Given the description of an element on the screen output the (x, y) to click on. 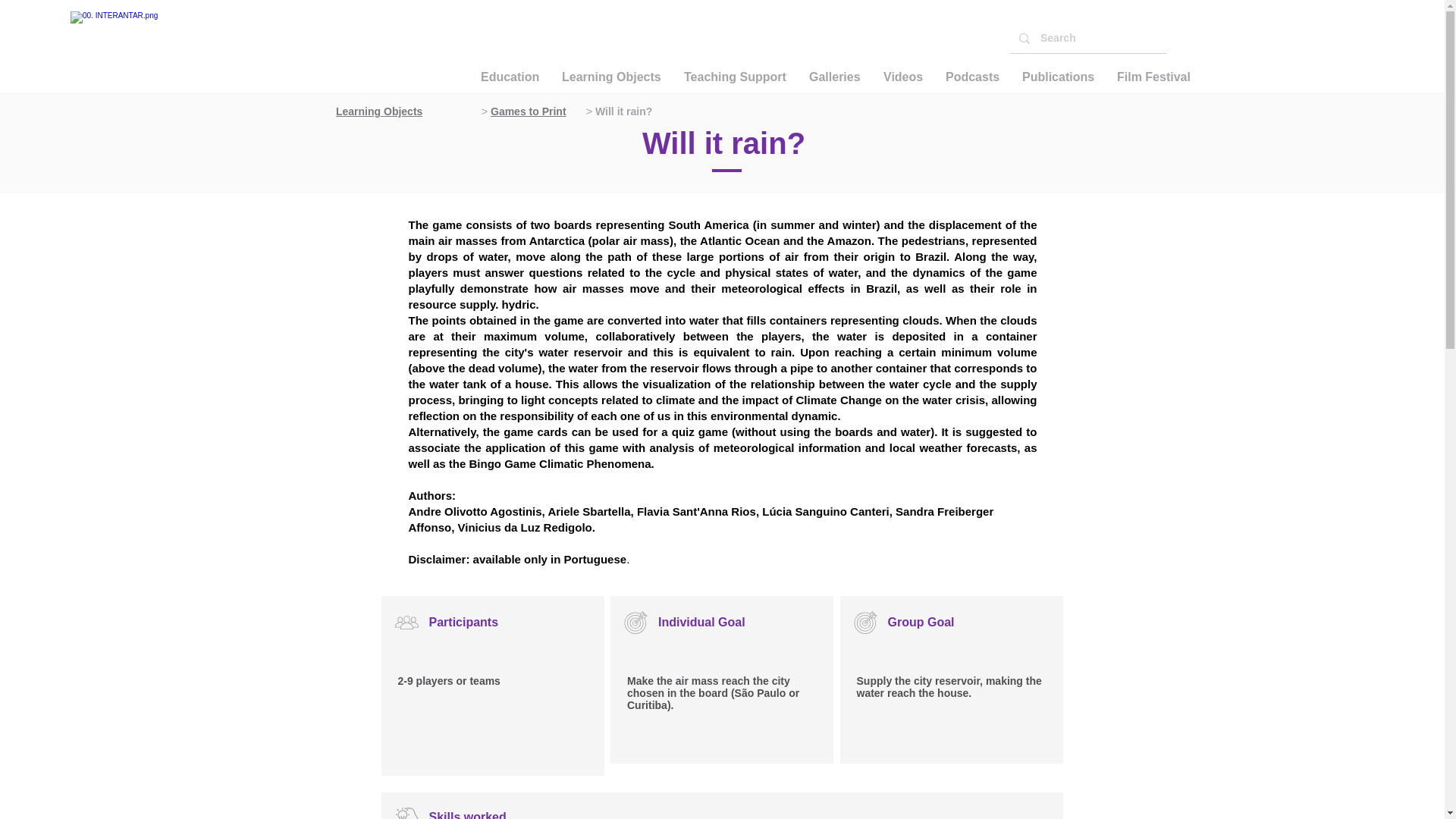
Teaching Support (734, 76)
Videos (903, 76)
Learning Objects (404, 111)
Will it rain? (649, 111)
Games to Print (533, 111)
Learning Objects (611, 76)
Podcasts (972, 76)
Education (509, 76)
Publications (1057, 76)
Film Festival (1153, 76)
Galleries (834, 76)
